Given the description of an element on the screen output the (x, y) to click on. 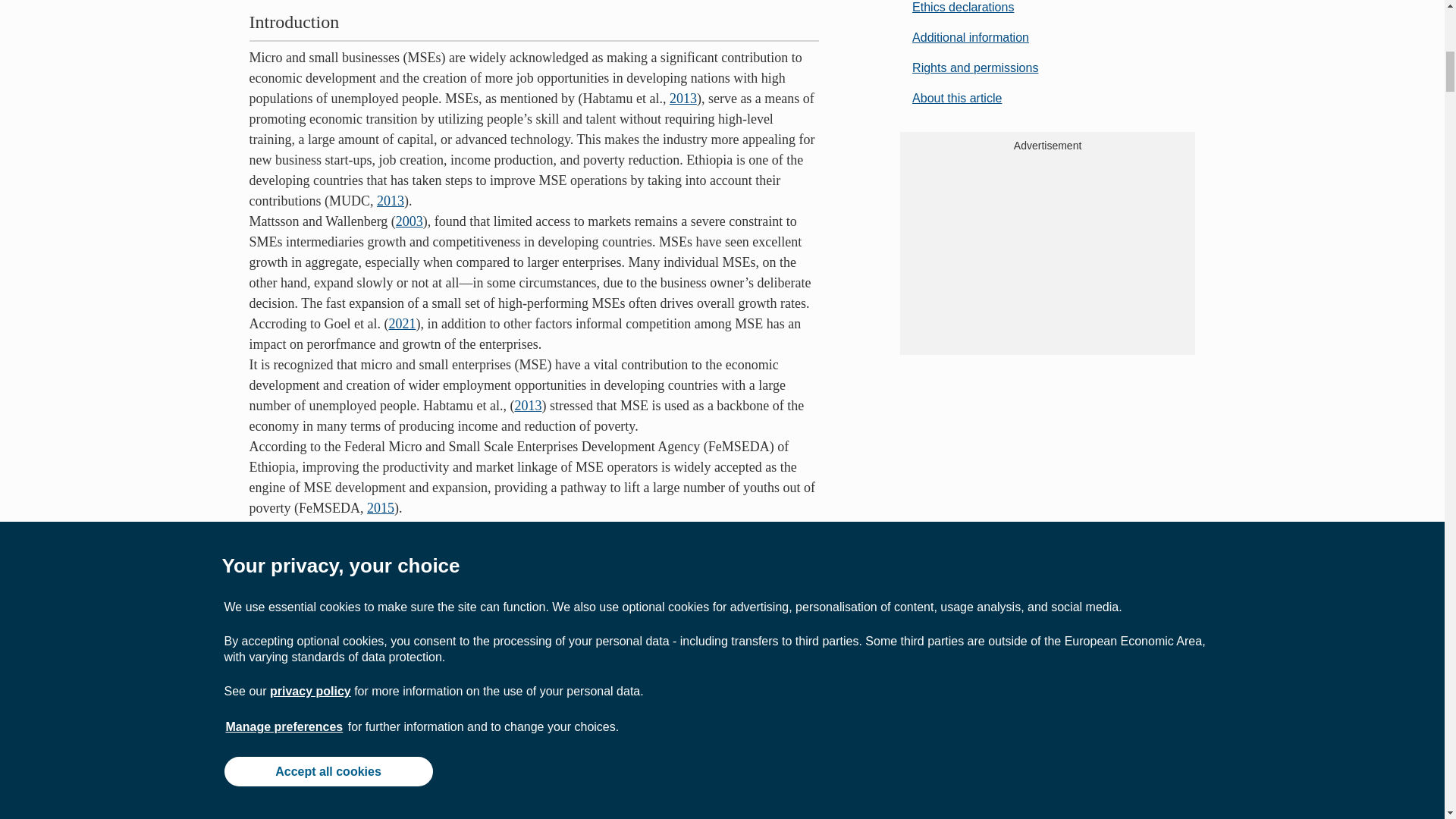
2013 (390, 200)
2021 (401, 323)
2013 (683, 98)
2013 (527, 405)
2003 (409, 221)
2015 (380, 507)
